Given the description of an element on the screen output the (x, y) to click on. 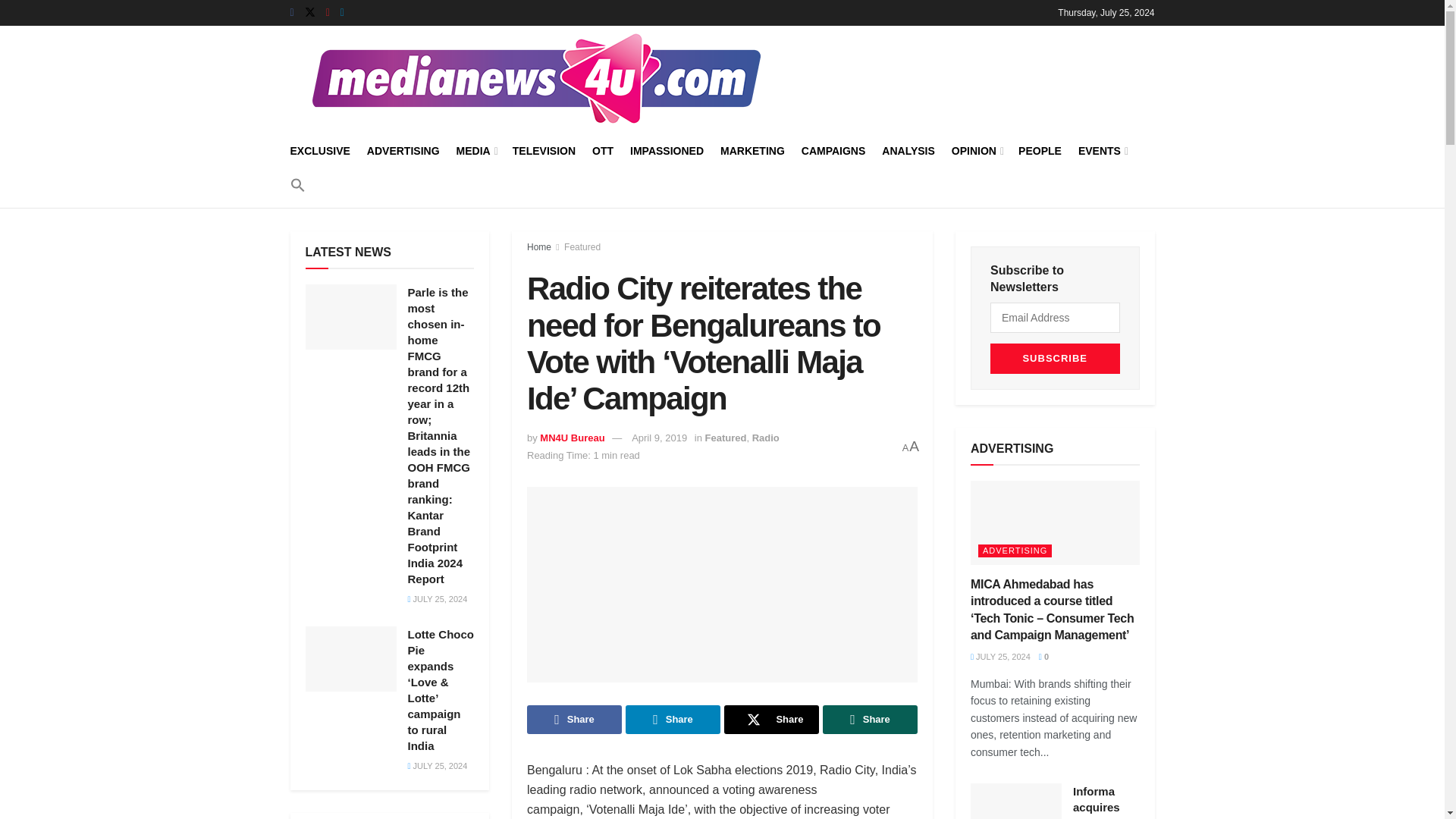
ANALYSIS (908, 150)
Subscribe (1054, 358)
OTT (602, 150)
OPINION (976, 150)
MARKETING (752, 150)
TELEVISION (543, 150)
EXCLUSIVE (319, 150)
MEDIA (476, 150)
PEOPLE (1039, 150)
IMPASSIONED (666, 150)
CAMPAIGNS (834, 150)
ADVERTISING (402, 150)
EVENTS (1101, 150)
